Given the description of an element on the screen output the (x, y) to click on. 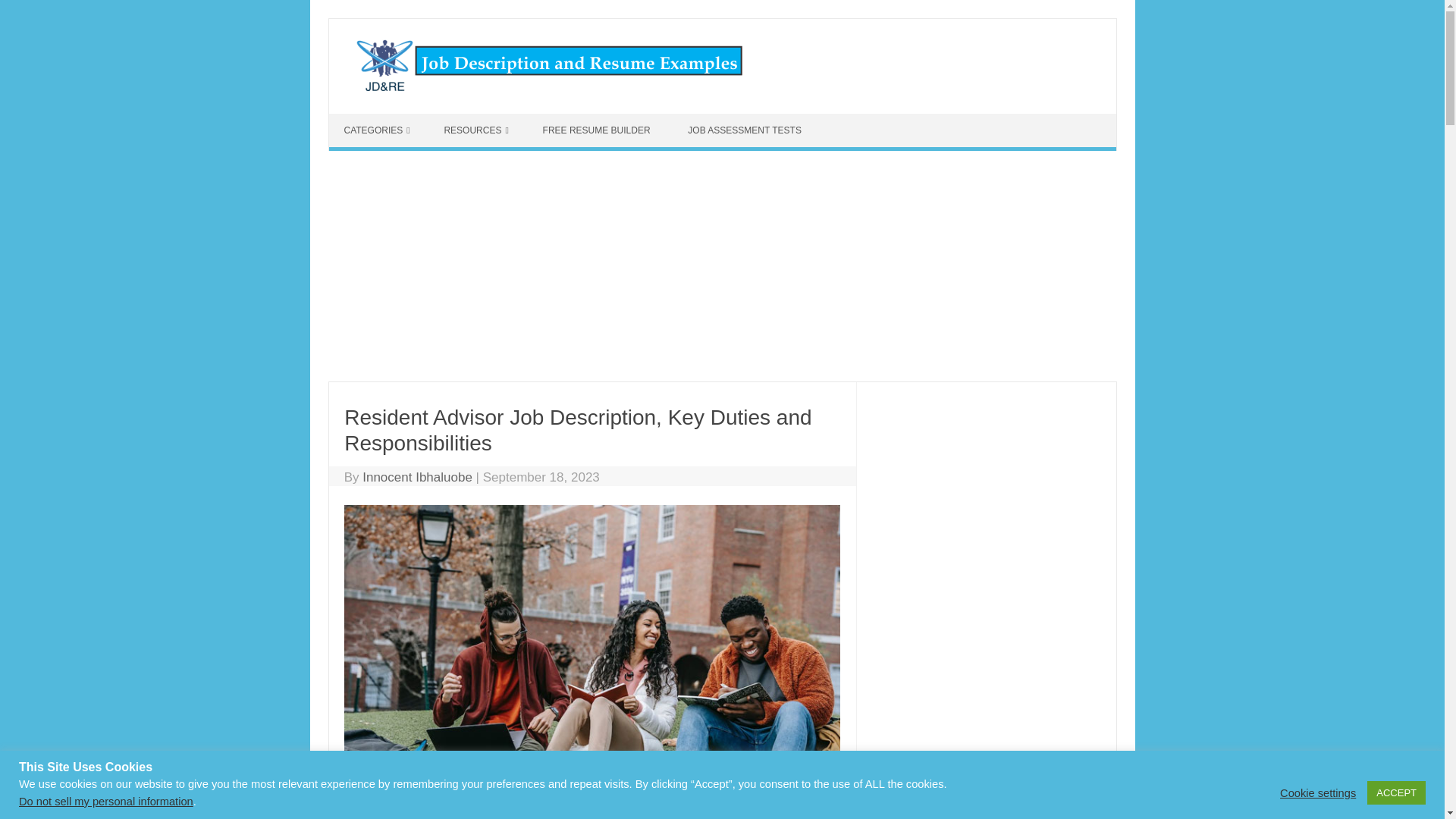
Skip to content (371, 119)
Posts by Innocent Ibhaluobe (416, 477)
JOB ASSESSMENT TESTS (746, 130)
CATEGORIES (377, 130)
Job Description And Resume Examples (540, 86)
FREE RESUME BUILDER (598, 130)
RESOURCES (475, 130)
Skip to content (371, 119)
Innocent Ibhaluobe (416, 477)
